Given the description of an element on the screen output the (x, y) to click on. 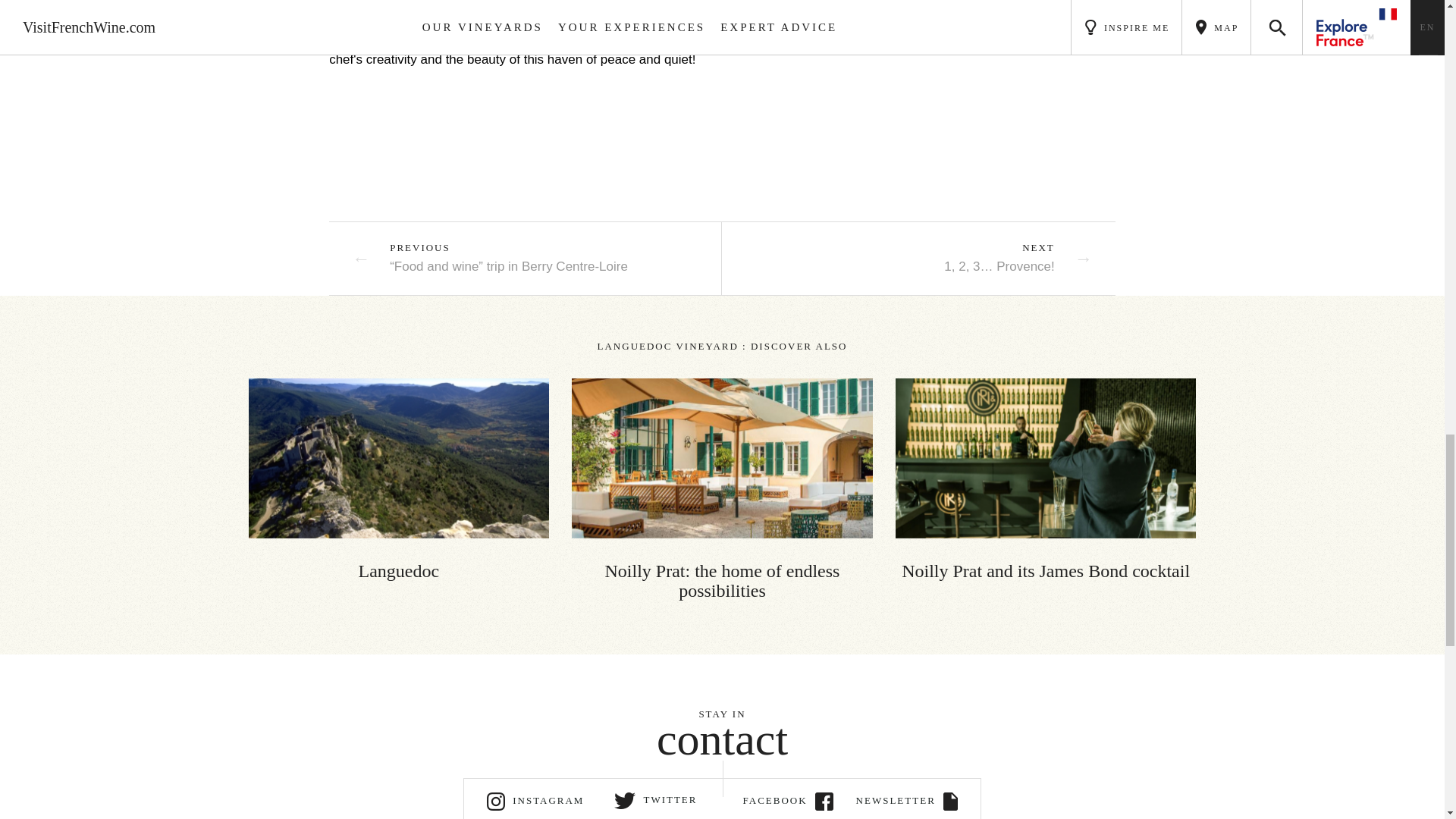
TWITTER (657, 798)
Noilly Prat: the home of endless possibilities (722, 489)
Noilly Prat and its James Bond cocktail (1045, 479)
INSTAGRAM (535, 798)
Cocktail class Noilly Prat Languedoc  (1045, 458)
Corbieres vineyards, Languedoc (399, 458)
Languedoc (399, 479)
